Given the description of an element on the screen output the (x, y) to click on. 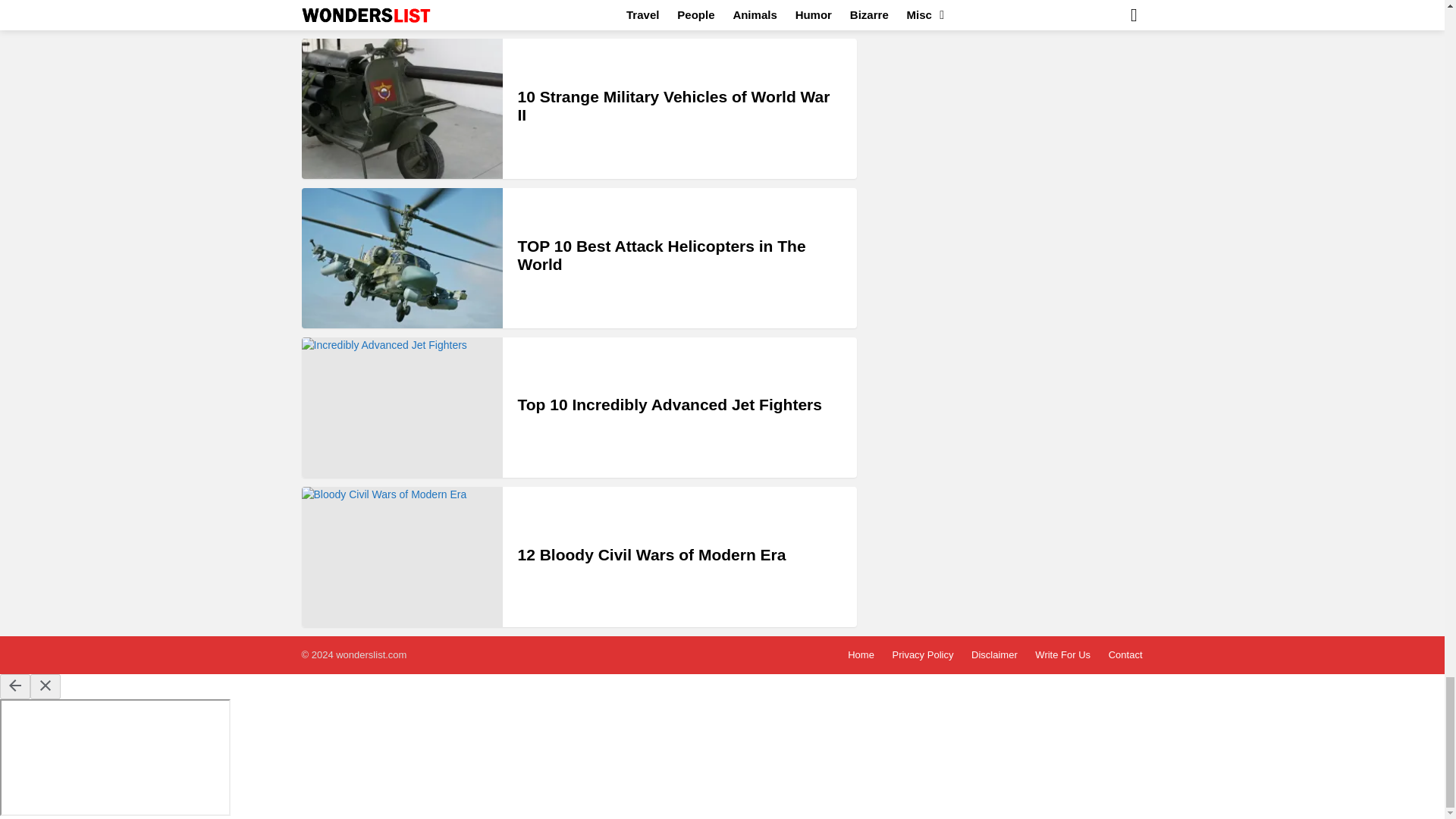
Top 10 Incredibly Advanced Jet Fighters (401, 407)
TOP 10 Best Attack Helicopters in The World (660, 254)
Top 10 Incredibly Advanced Jet Fighters (668, 404)
TOP 10 Best Attack Helicopters in The World (401, 258)
12 Bloody Civil Wars of Modern Era (401, 556)
10 Strange Military Vehicles of World War II (672, 105)
10 Strange Military Vehicles of World War II (401, 108)
